Given the description of an element on the screen output the (x, y) to click on. 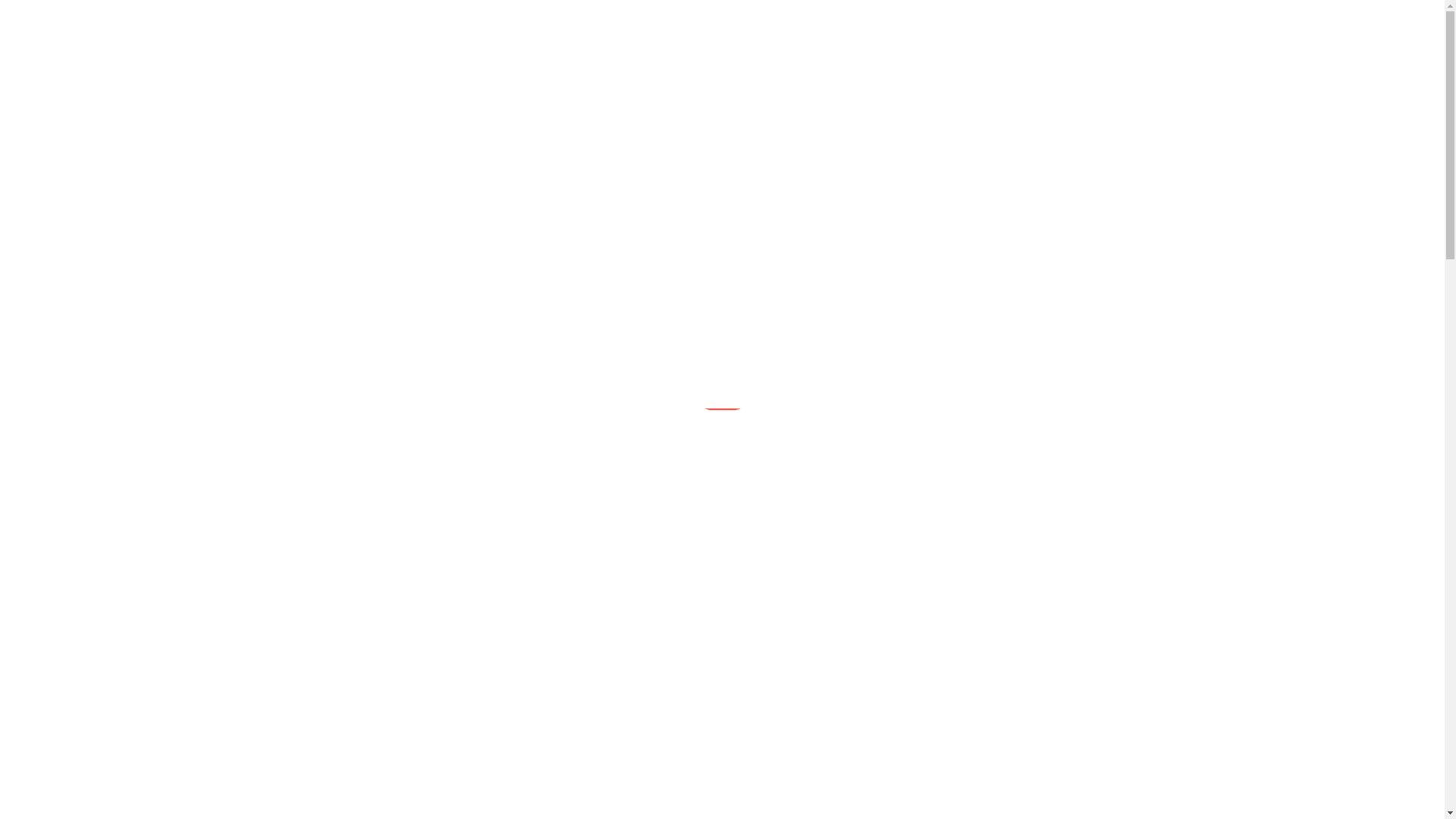
FAQ Element type: text (834, 21)
Contact Us Element type: text (906, 21)
Our Story Element type: text (695, 21)
21 Degrees Estate Element type: text (239, 476)
Tours Element type: text (502, 21)
Gallery Element type: text (771, 21)
Events Element type: text (564, 21)
Shop Element type: text (625, 21)
Home Element type: text (441, 21)
Book Now Element type: text (992, 21)
